Given the description of an element on the screen output the (x, y) to click on. 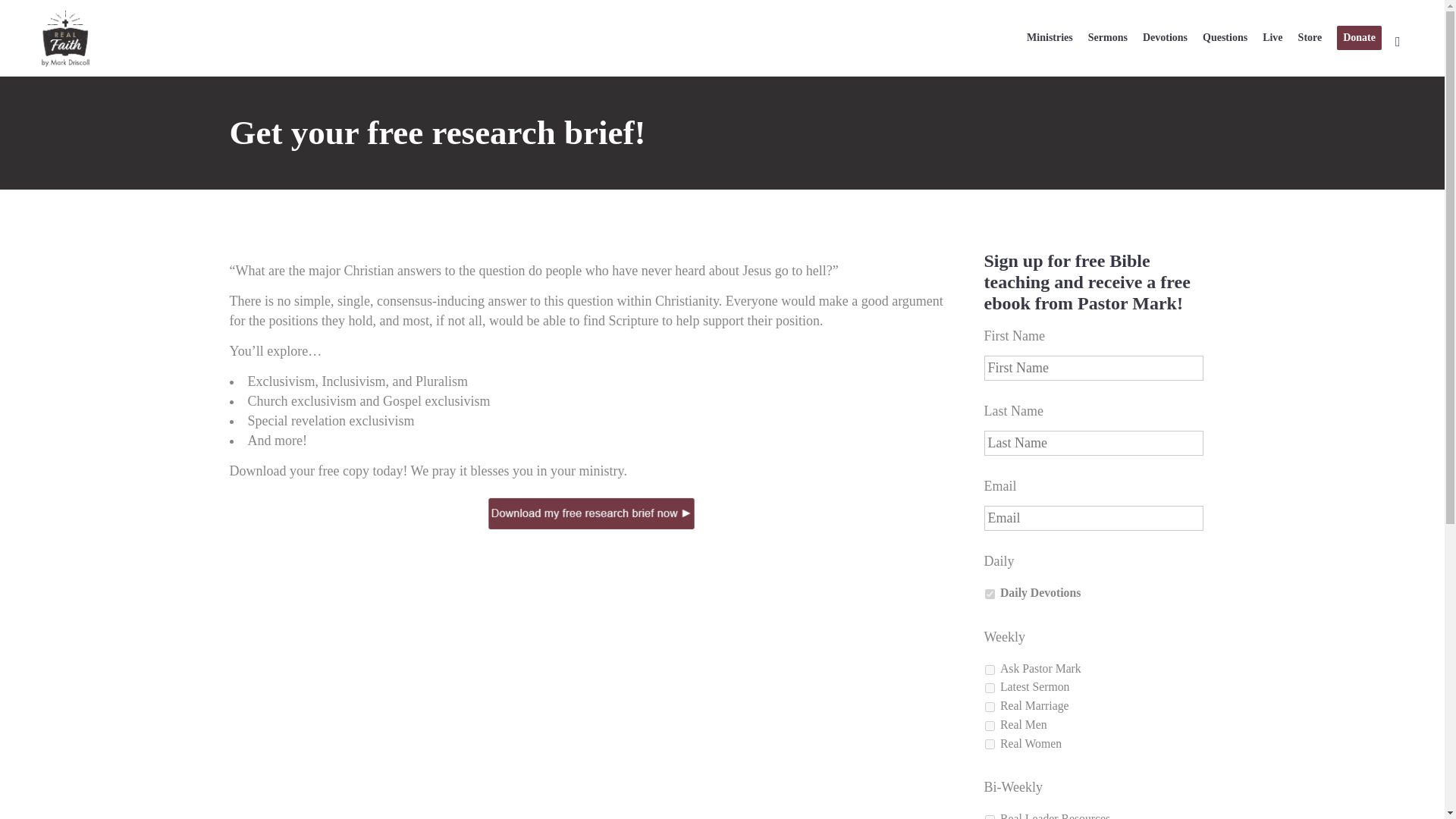
Page 1 (590, 295)
Latest Sermon (989, 687)
Daily Devotions (989, 593)
Real Men (989, 726)
Ask Pastor Mark (989, 669)
Real Women (989, 744)
Real Leader Resources (989, 816)
Real Marriage (989, 706)
Page 1 (590, 410)
